Given the description of an element on the screen output the (x, y) to click on. 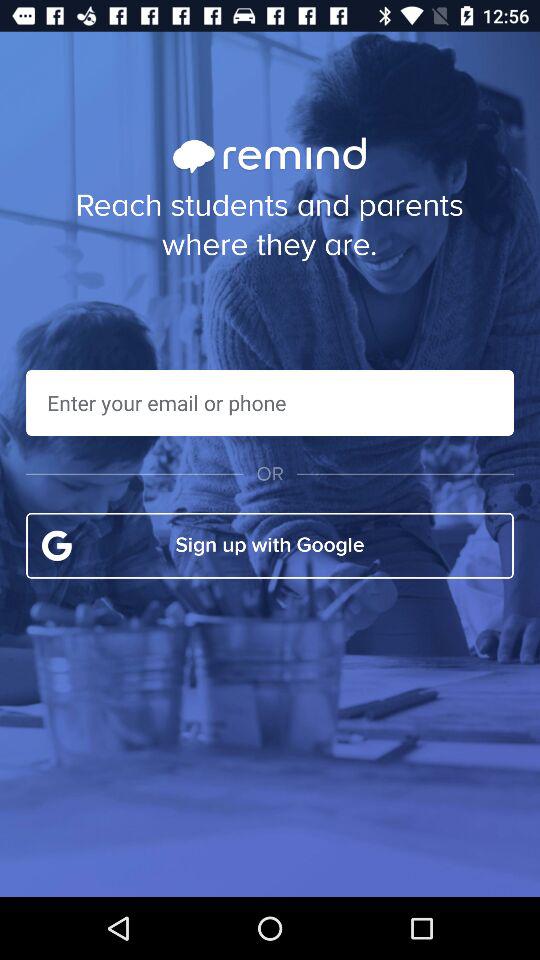
enter email or phone (269, 402)
